Given the description of an element on the screen output the (x, y) to click on. 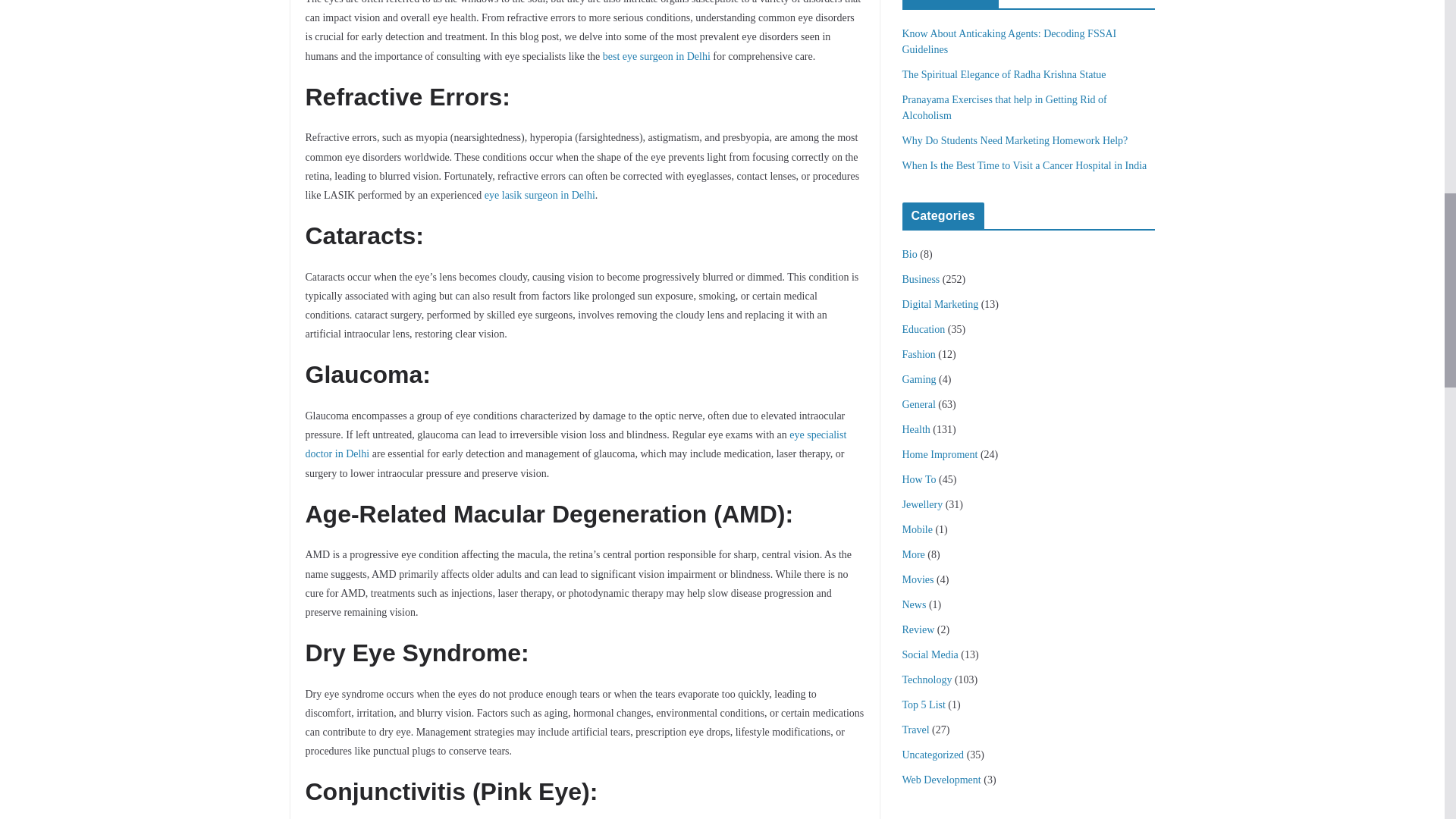
best eye surgeon in Delhi (656, 56)
eye specialist doctor in Delhi (574, 444)
eye lasik surgeon in Delhi (539, 194)
